Given the description of an element on the screen output the (x, y) to click on. 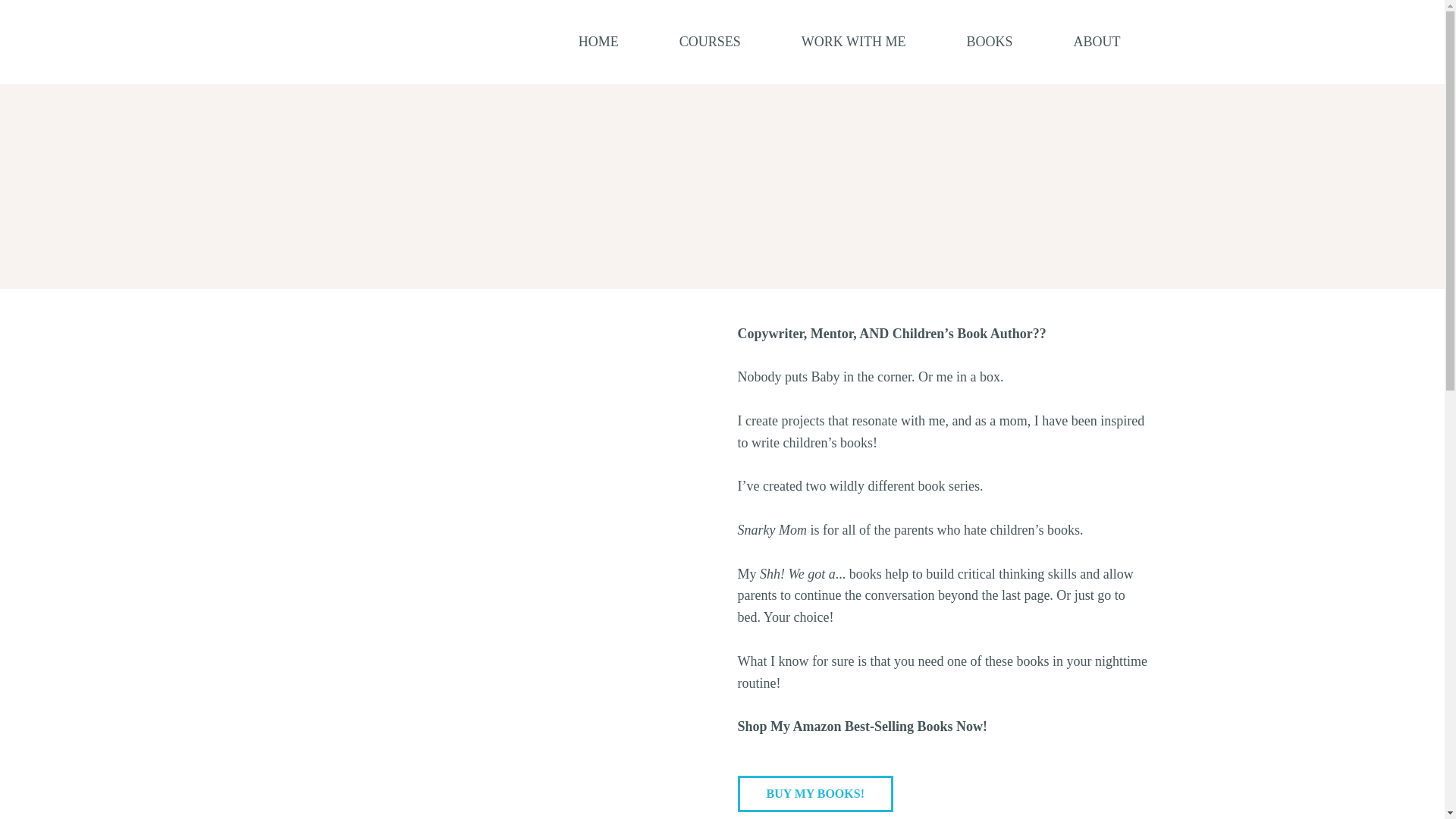
WORK WITH ME (853, 41)
BOOKS (989, 41)
BUY MY BOOKS! (814, 793)
COURSES (710, 41)
ABOUT (1097, 41)
HOME (598, 41)
